Given the description of an element on the screen output the (x, y) to click on. 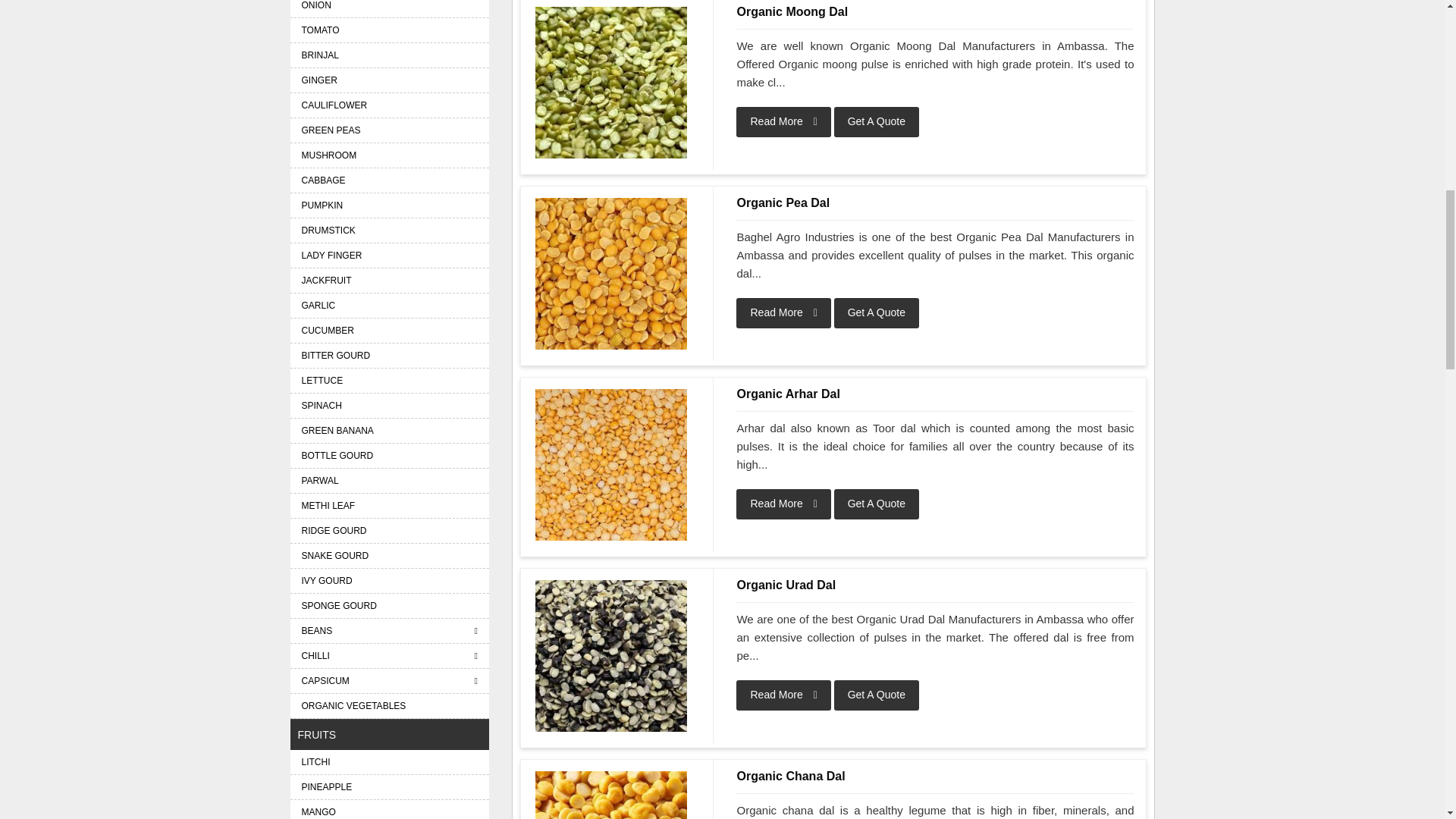
Organic Pea Dal (935, 203)
Organic Pea Dal (935, 203)
Read More (782, 503)
Get A Quote (876, 313)
 Organic Moong Dal Manufacturers in Ambassa (611, 82)
Get A Quote (876, 122)
Organic Urad Dal (935, 585)
Organic Chana Dal (935, 776)
Organic Moong Dal (935, 12)
Get A Quote (876, 695)
Get A Quote (876, 122)
Get A Quote (876, 503)
Organic Pea Dal (611, 273)
Organic Moong Dal (611, 82)
Organic Moong Dal (935, 12)
